Given the description of an element on the screen output the (x, y) to click on. 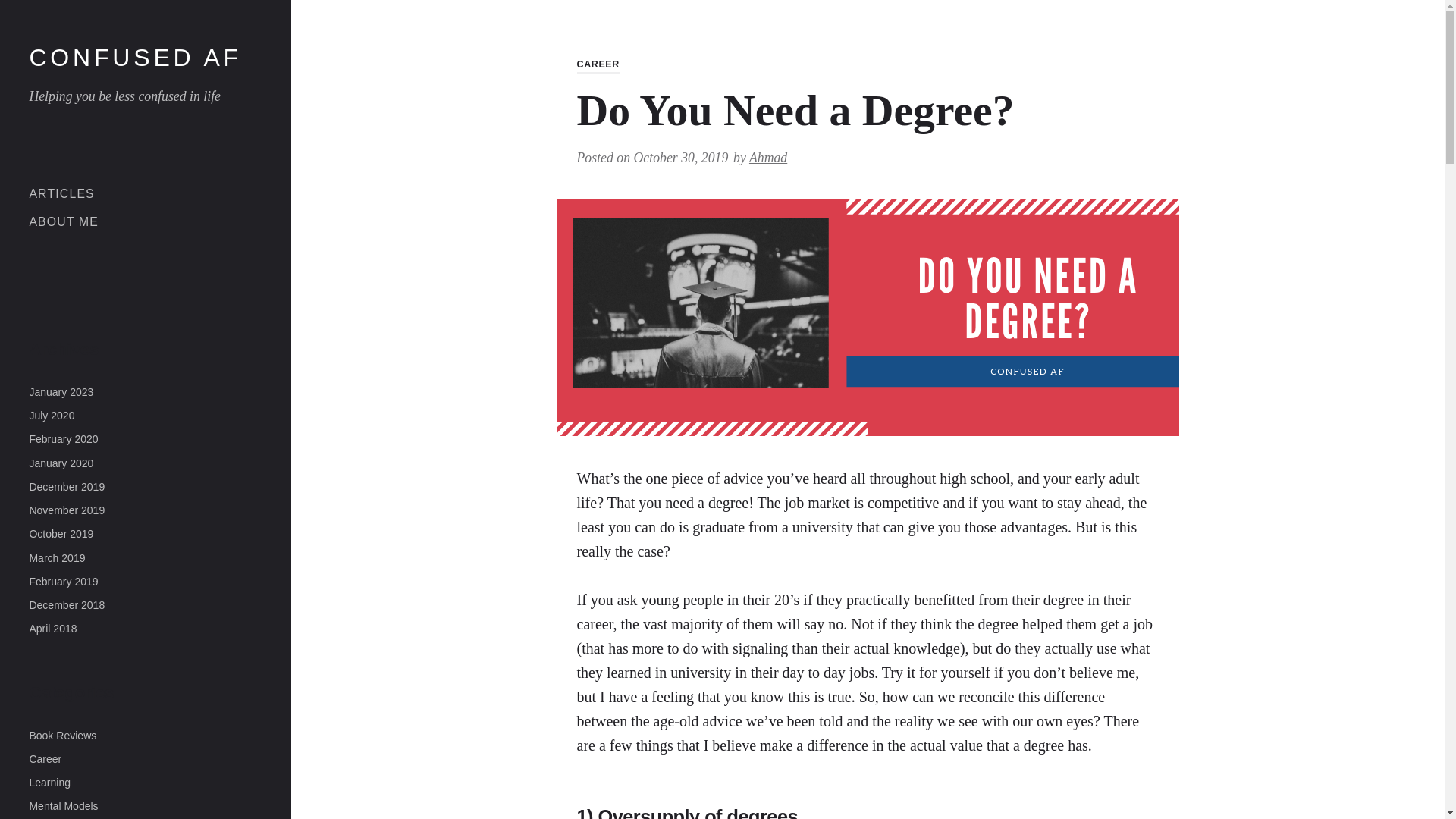
December 2019 (66, 486)
July 2020 (51, 415)
CAREER (597, 65)
ARTICLES (61, 193)
CONFUSED AF (135, 58)
February 2020 (63, 439)
Learning (49, 782)
Mental Models (63, 806)
March 2019 (56, 558)
April 2018 (53, 628)
